Given the description of an element on the screen output the (x, y) to click on. 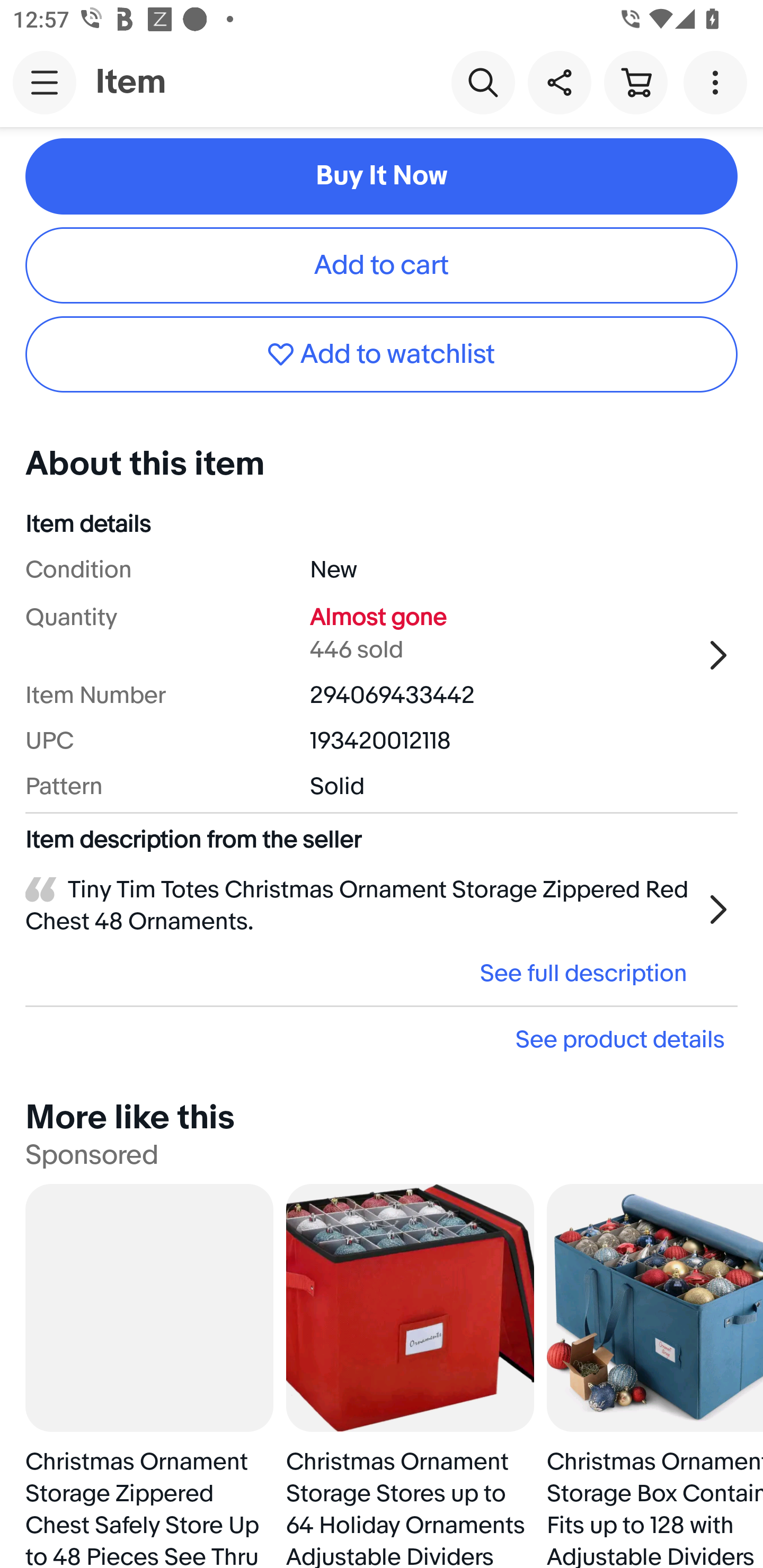
Main navigation, open (44, 82)
Search (482, 81)
Share this item (559, 81)
Cart button shopping cart (635, 81)
More options (718, 81)
Buy It Now (381, 175)
Add to cart (381, 265)
Add to watchlist (381, 354)
See full description (362, 972)
See product details (381, 1038)
